Given the description of an element on the screen output the (x, y) to click on. 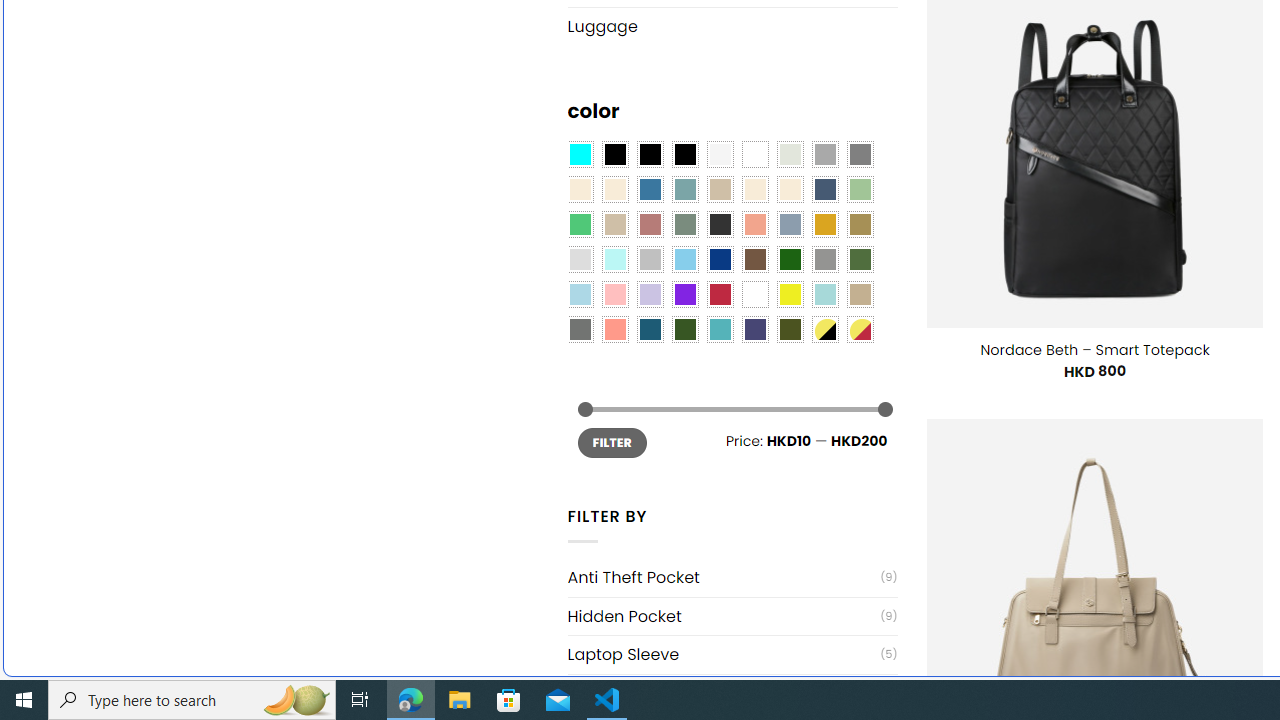
Luggage (732, 25)
Navy Blue (719, 259)
FILTER (612, 442)
Peach Pink (614, 329)
Dull Nickle (579, 329)
All Black (614, 154)
Clear (755, 154)
Anti Theft Pocket(9) (732, 577)
Emerald Green (579, 224)
Green (859, 259)
Dark Gray (824, 154)
Beige-Brown (614, 190)
Light Blue (579, 295)
Laptop Sleeve(5) (732, 654)
Luggage (732, 26)
